Given the description of an element on the screen output the (x, y) to click on. 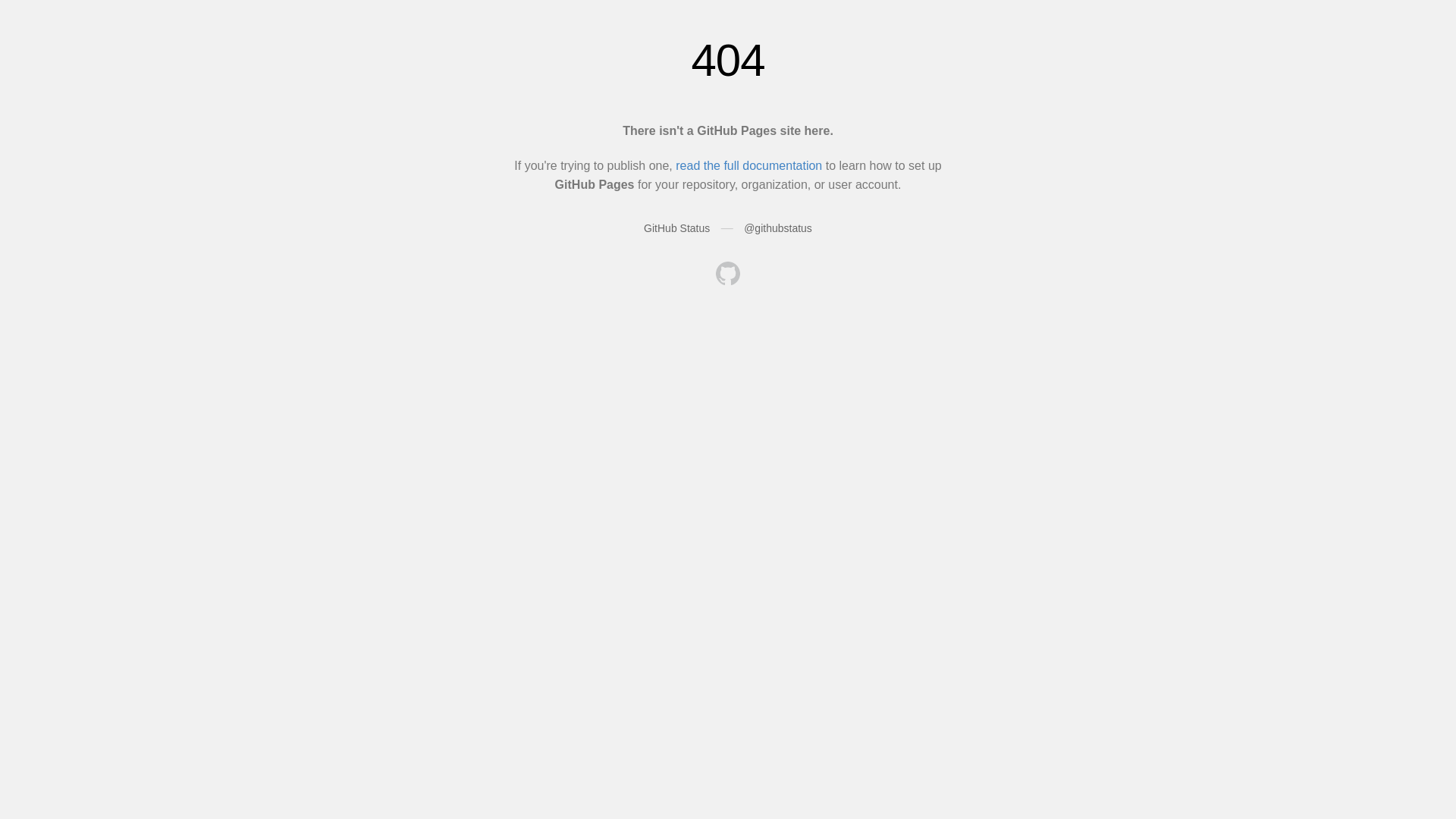
read the full documentation Element type: text (748, 165)
GitHub Status Element type: text (676, 228)
@githubstatus Element type: text (777, 228)
